Given the description of an element on the screen output the (x, y) to click on. 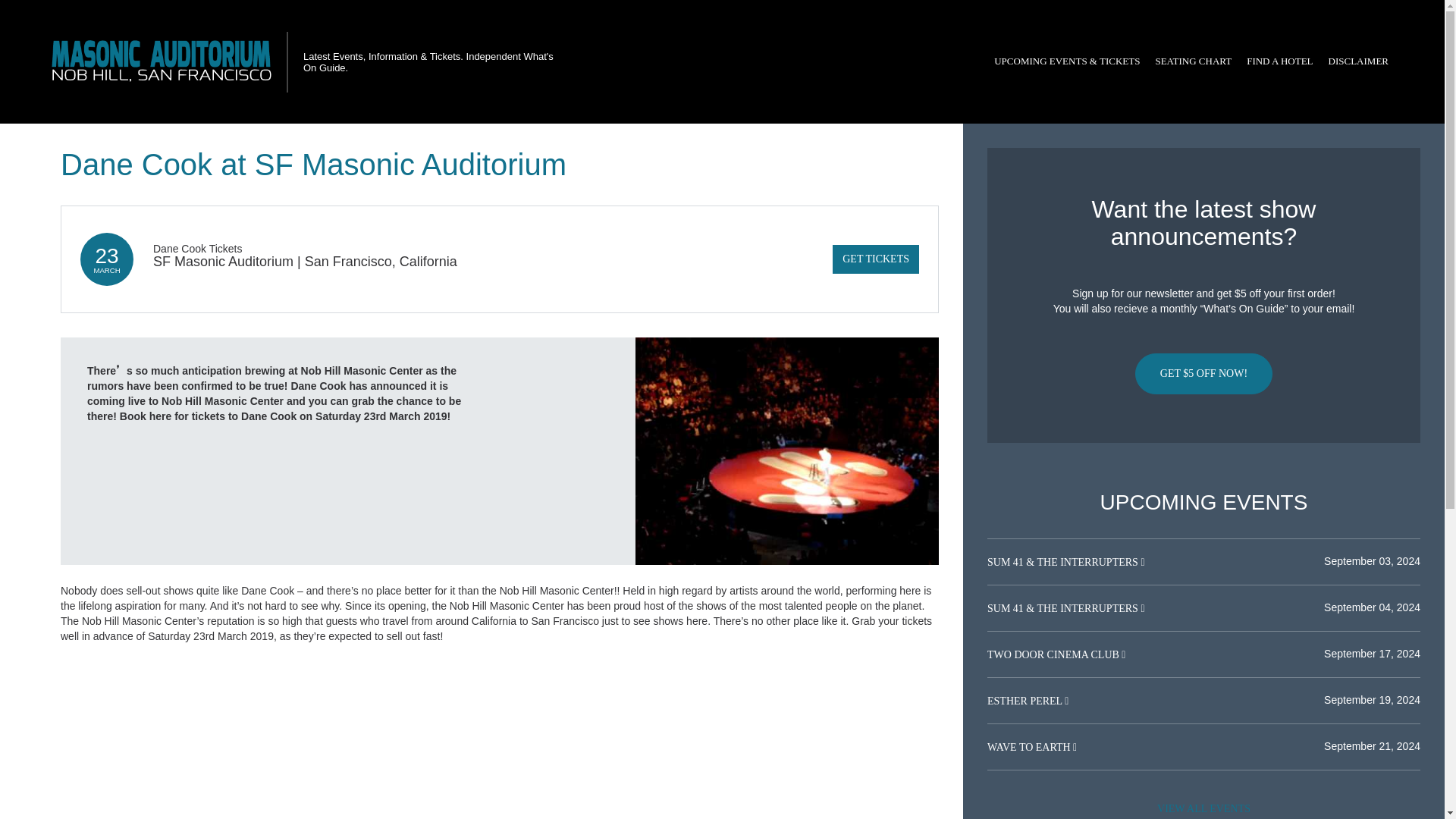
Dane Cook at Nob Hill Masonic Center (786, 451)
GET TICKETS (875, 258)
DISCLAIMER (1358, 61)
FIND A HOTEL (1279, 61)
VIEW ALL EVENTS (1203, 806)
SEATING CHART (1193, 61)
Dane Cook Tickets (197, 248)
